Given the description of an element on the screen output the (x, y) to click on. 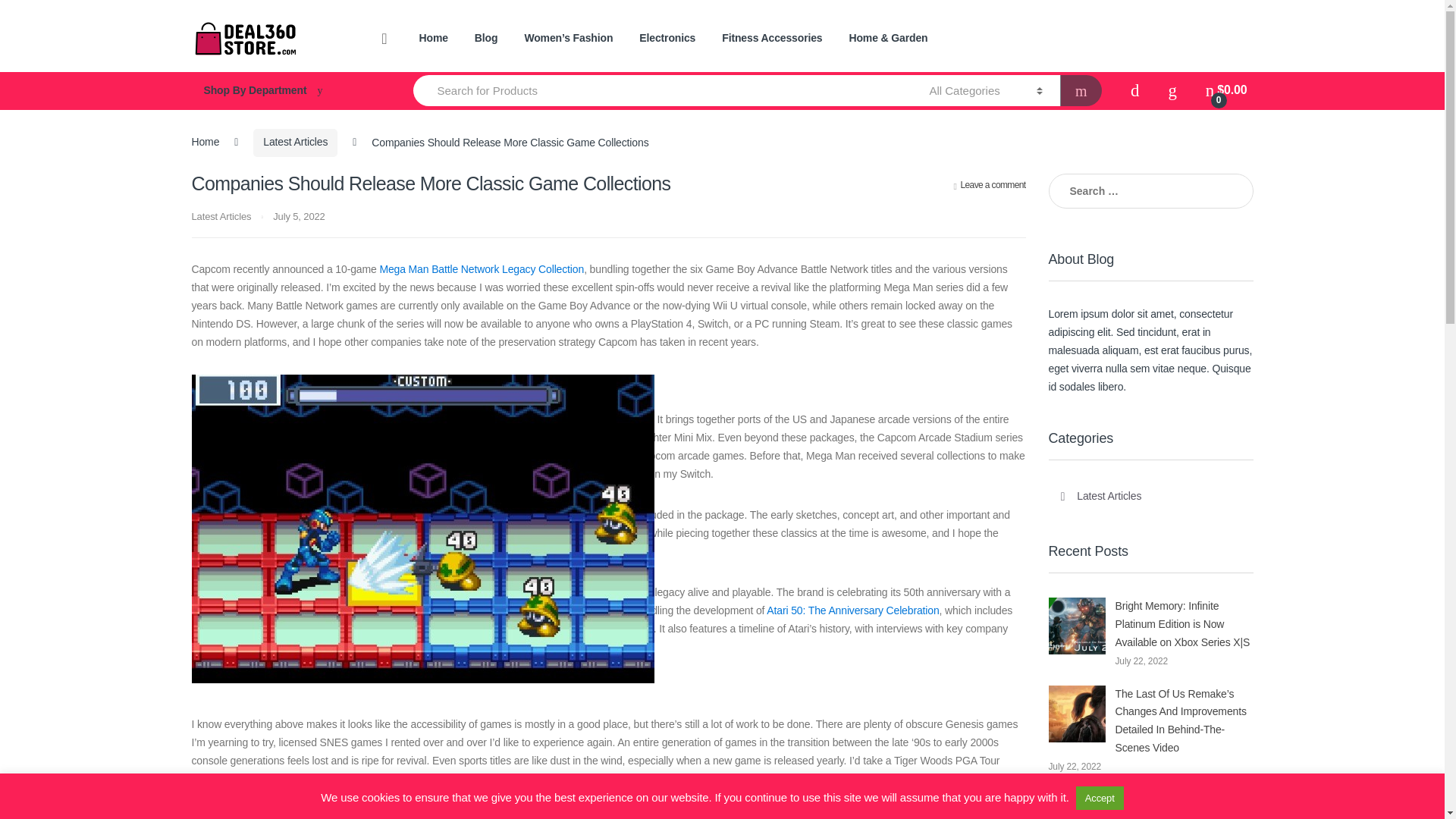
Fitness Accessories (772, 38)
Shop By Department (287, 90)
Electronics (667, 38)
